Given the description of an element on the screen output the (x, y) to click on. 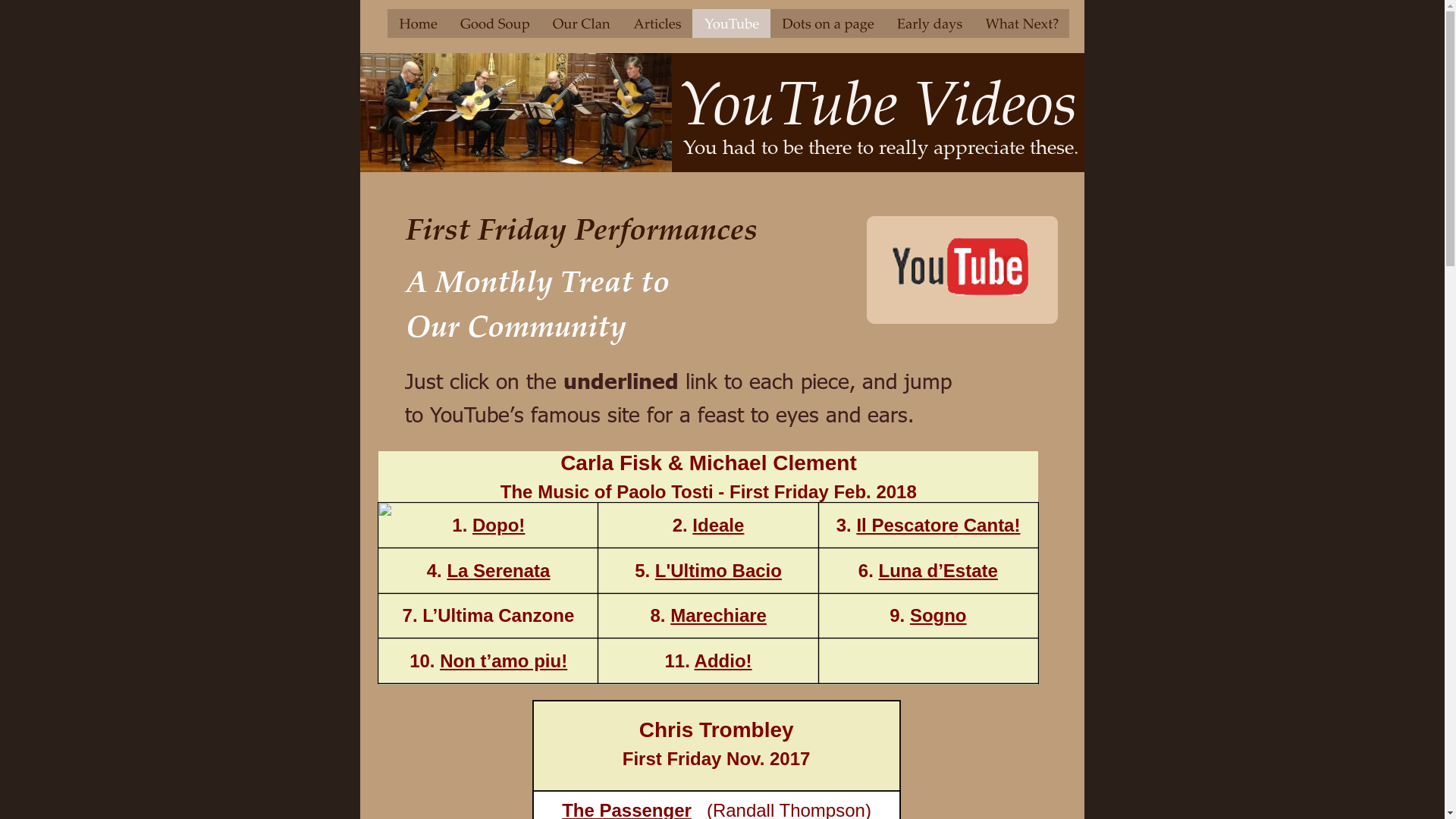
Ideale Element type: text (717, 524)
Addio! Element type: text (723, 660)
Il Pescatore Canta! Element type: text (937, 524)
Dopo! Element type: text (498, 524)
Sogno Element type: text (938, 615)
L'Ultimo Bacio Element type: text (718, 570)
La Serenata Element type: text (497, 570)
Marechiare Element type: text (718, 615)
